Given the description of an element on the screen output the (x, y) to click on. 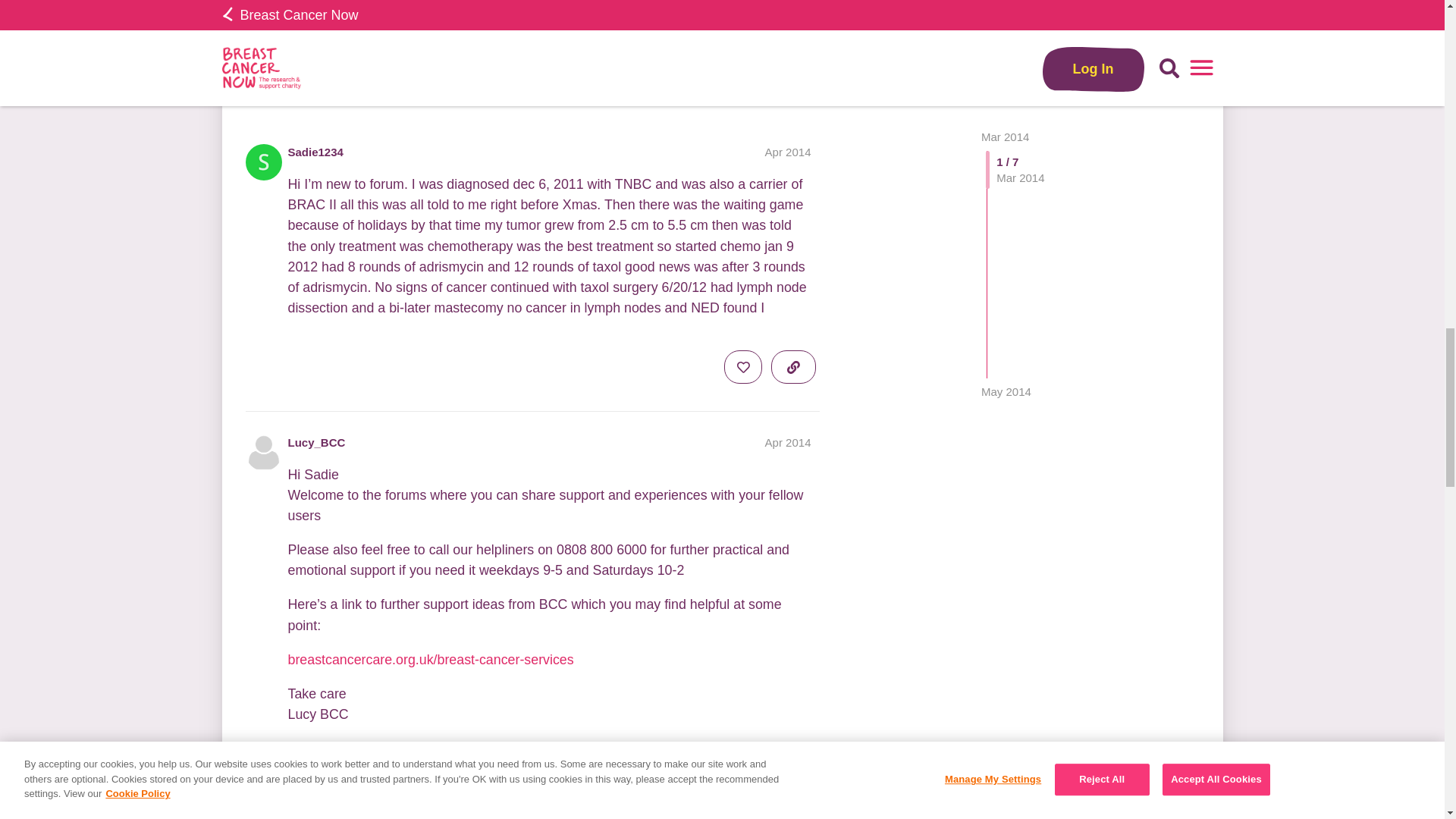
Sadie1234 (315, 151)
Apr 2014 (787, 151)
